Given the description of an element on the screen output the (x, y) to click on. 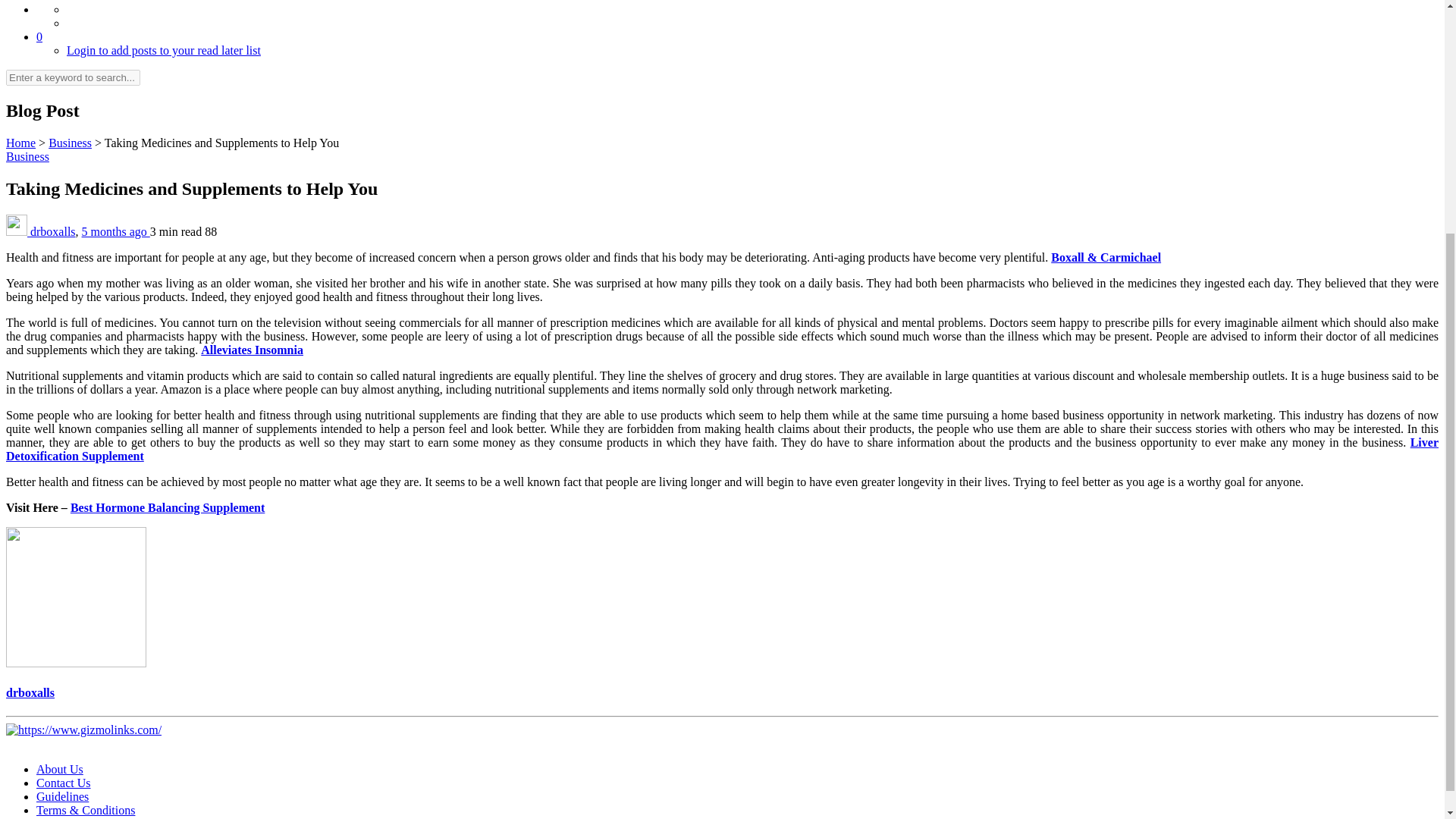
Home (19, 142)
5 months ago (115, 231)
Taking Medicines and Supplements to Help You (221, 142)
Guidelines (62, 796)
Business (69, 142)
Best Hormone Balancing Supplement (166, 507)
Login to add posts to your read later list (163, 50)
About Us (59, 768)
Home (19, 142)
Alleviates Insomnia (251, 349)
